Given the description of an element on the screen output the (x, y) to click on. 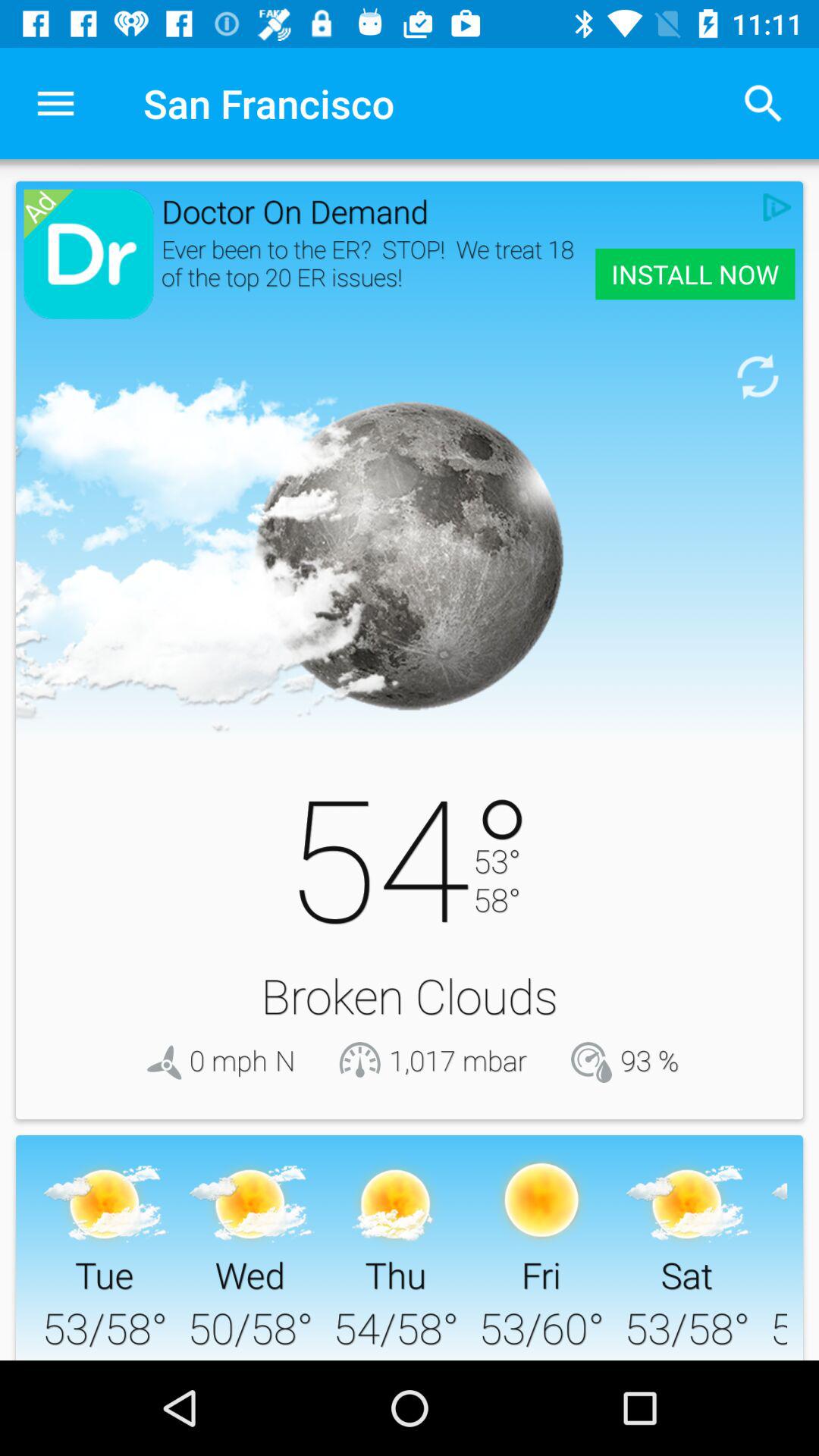
turn off icon to the right of san francisco (763, 103)
